Given the description of an element on the screen output the (x, y) to click on. 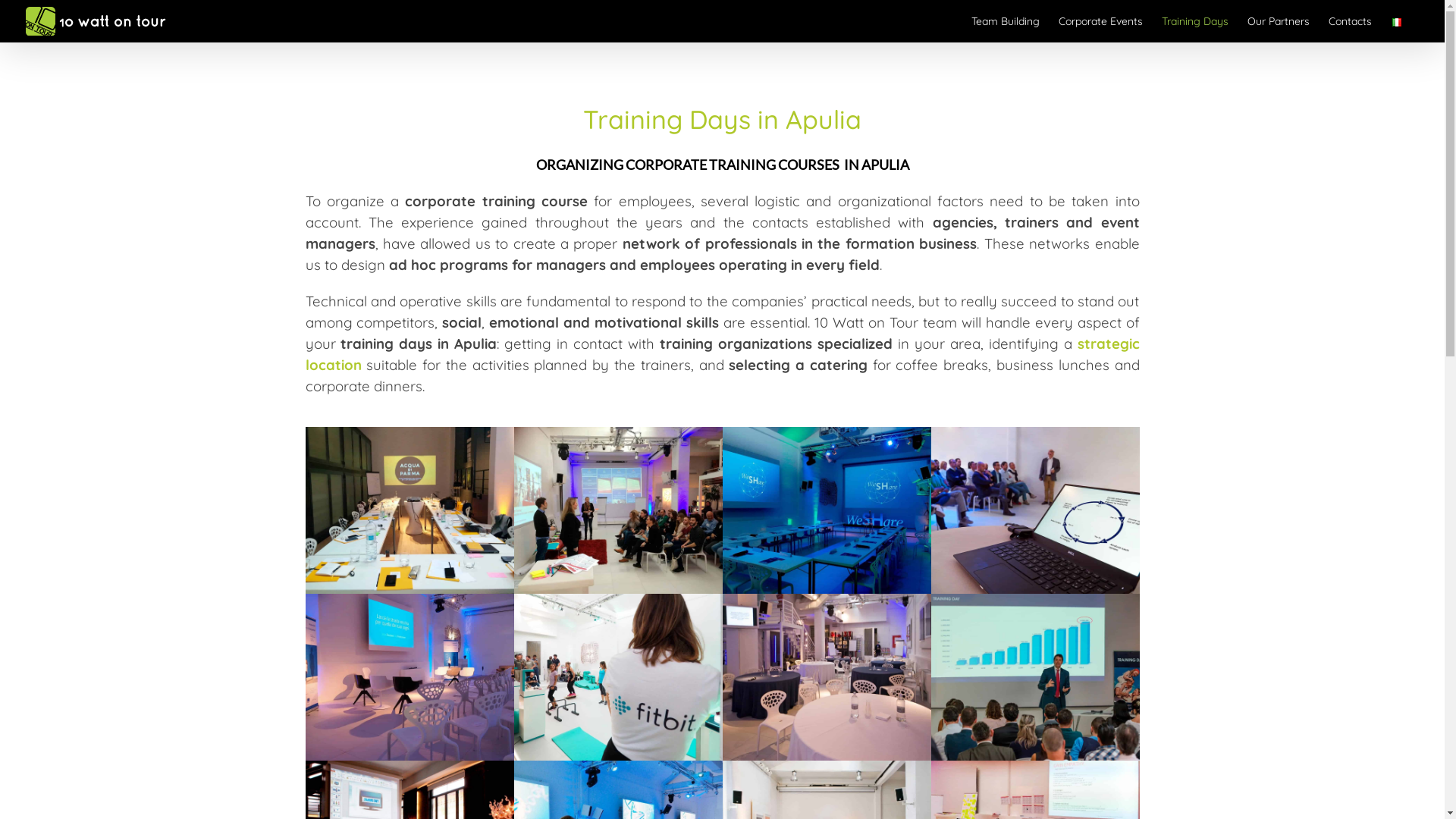
Our Partners Element type: text (1278, 20)
Training Days Element type: text (1194, 20)
Corporate Events Element type: text (1100, 20)
Team Building Element type: text (1005, 20)
Contacts Element type: text (1349, 20)
strategic location Element type: text (721, 353)
